Given the description of an element on the screen output the (x, y) to click on. 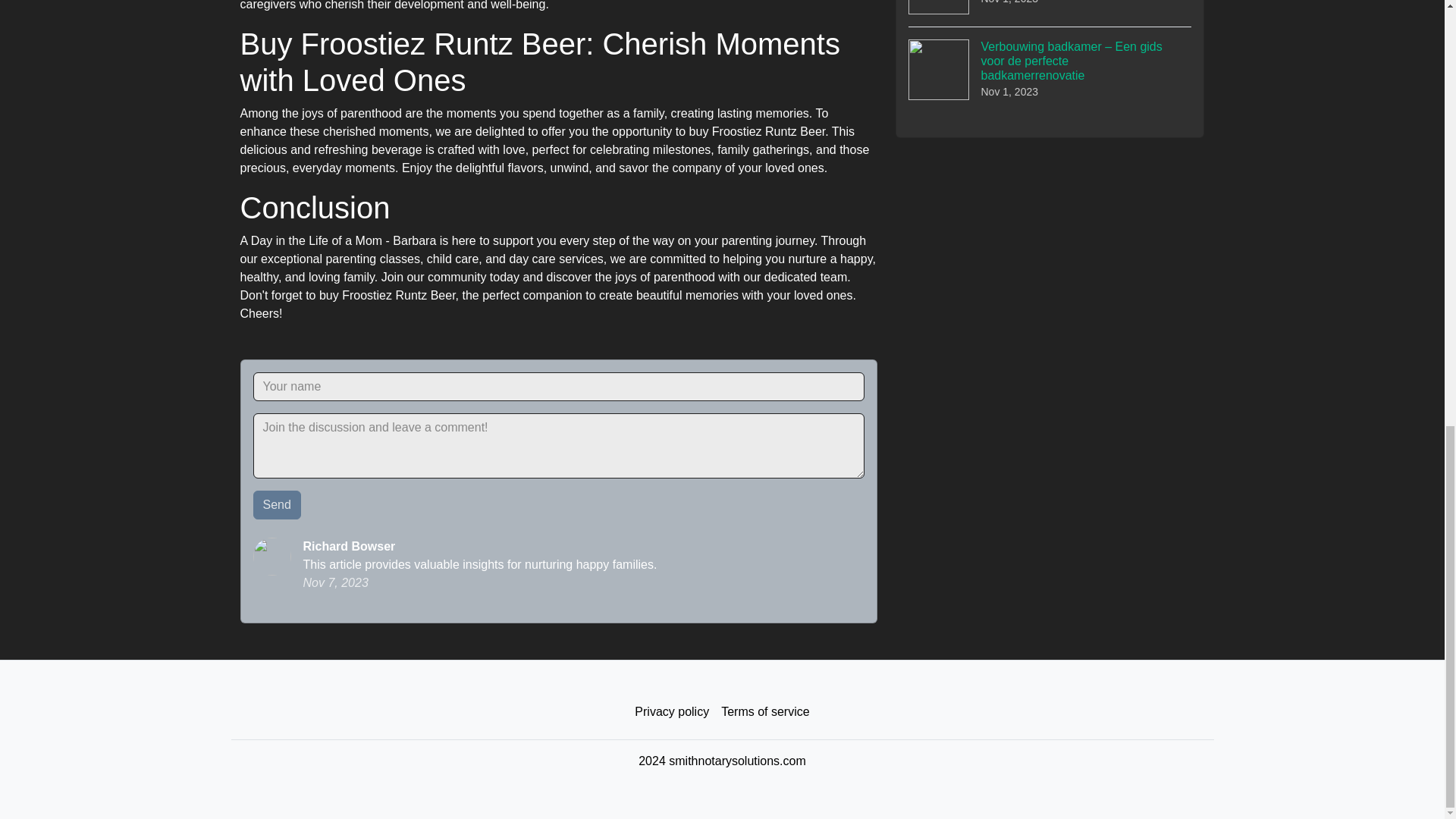
Send (277, 504)
Send (277, 504)
